Given the description of an element on the screen output the (x, y) to click on. 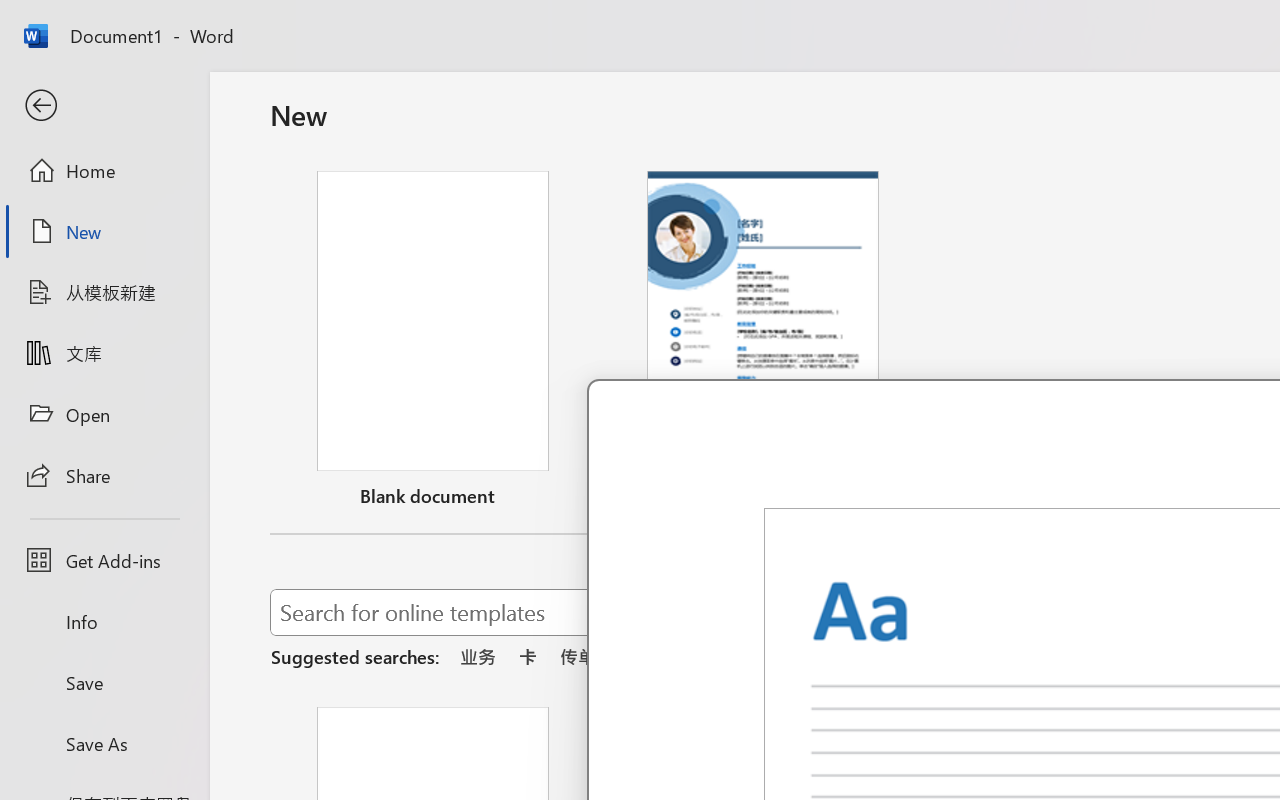
Back (104, 106)
Unpin from list (893, 499)
Info (104, 621)
Start searching (1178, 612)
